Given the description of an element on the screen output the (x, y) to click on. 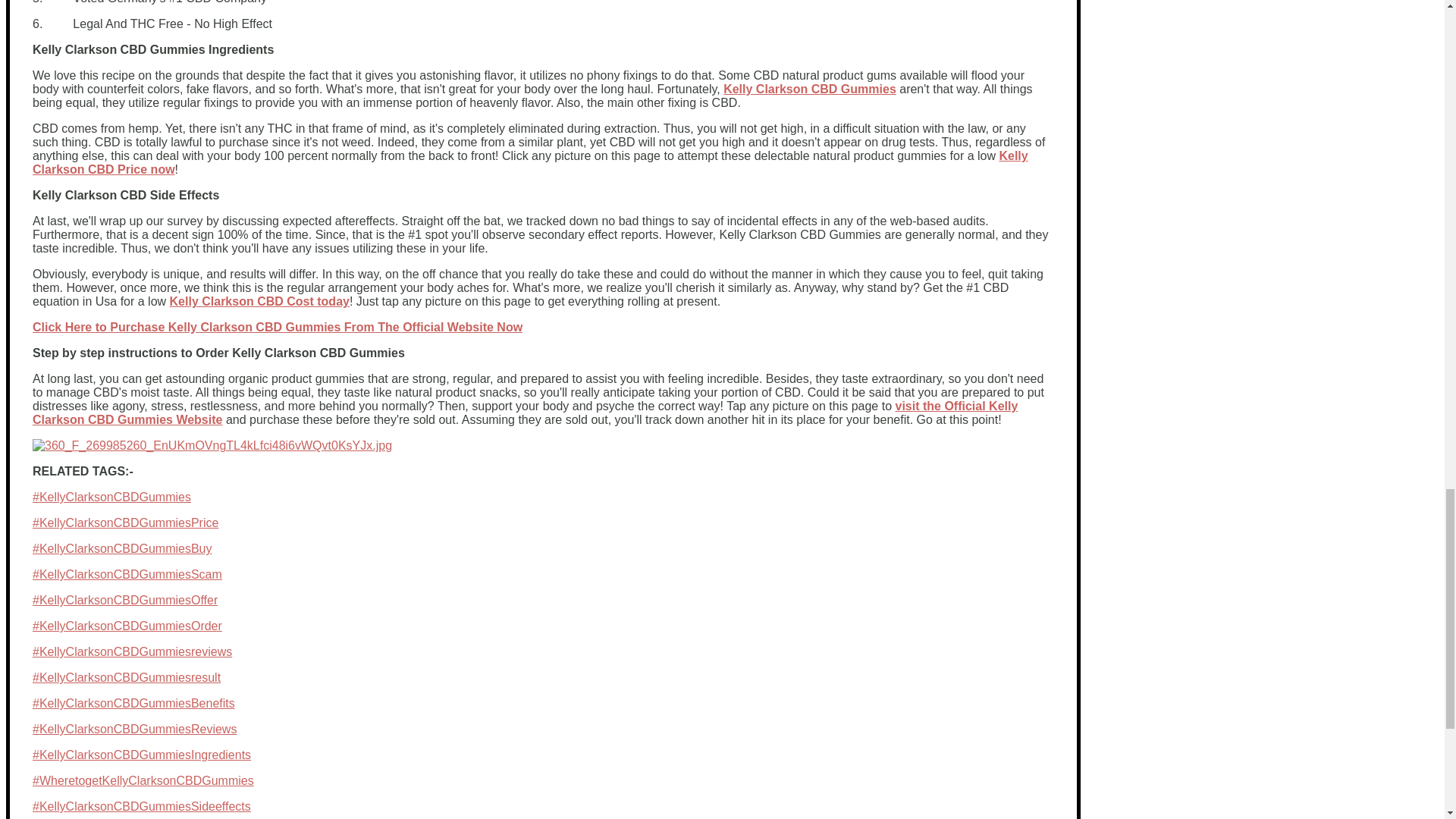
visit the Official Kelly Clarkson CBD Gummies Website (524, 412)
Kelly Clarkson CBD Price now (529, 162)
Kelly Clarkson CBD Cost today (259, 300)
Kelly Clarkson CBD Gummies (809, 88)
